Given the description of an element on the screen output the (x, y) to click on. 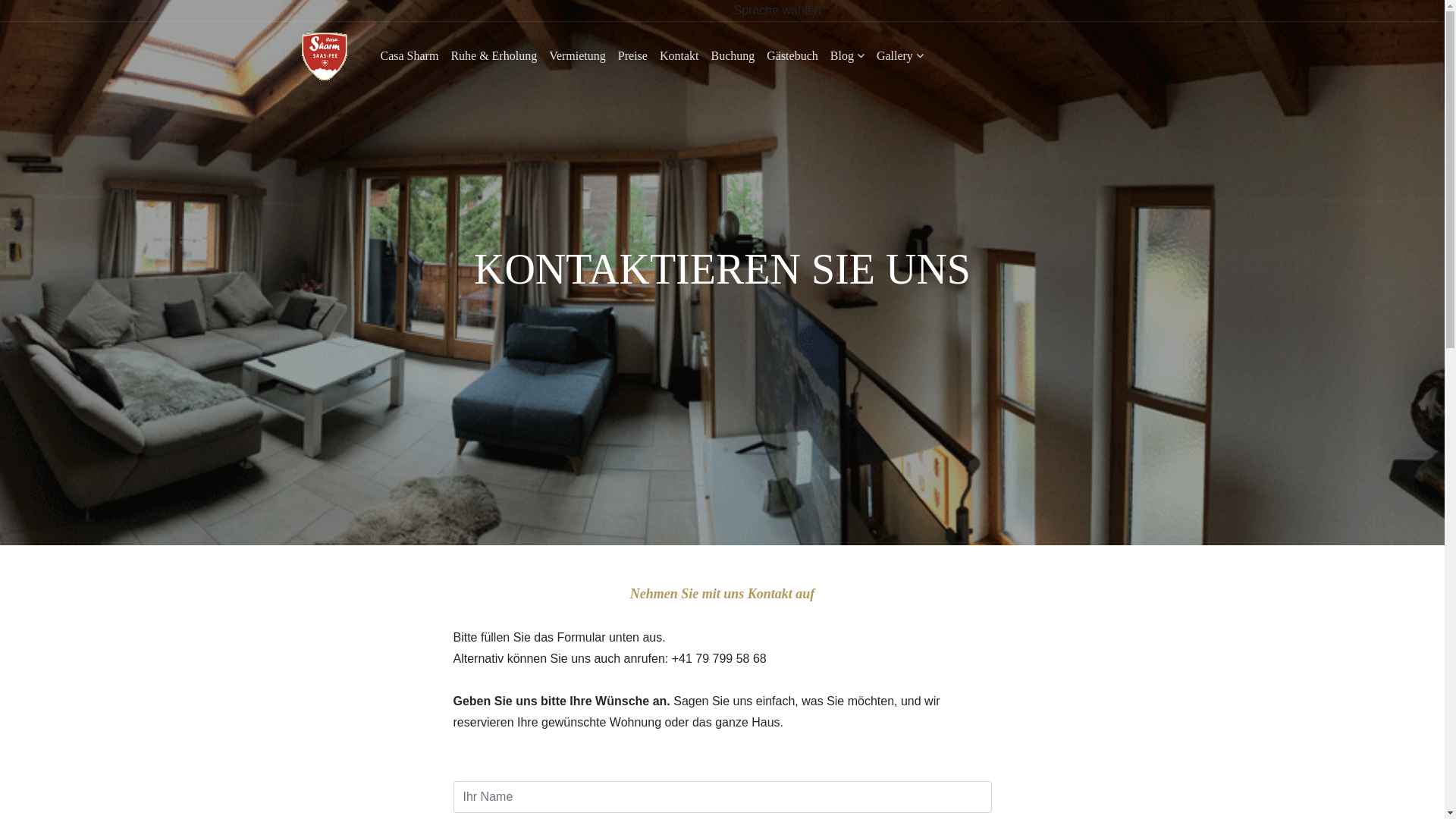
Gallery Element type: text (899, 55)
Vermietung Element type: text (576, 55)
Kontakt Element type: text (679, 55)
Buchung Element type: text (732, 55)
Casa Sharm in Saas-Fee Element type: hover (324, 55)
Preise Element type: text (632, 55)
Ruhe & Erholung Element type: text (493, 55)
Casa Sharm Element type: text (409, 55)
Blog Element type: text (847, 55)
